Given the description of an element on the screen output the (x, y) to click on. 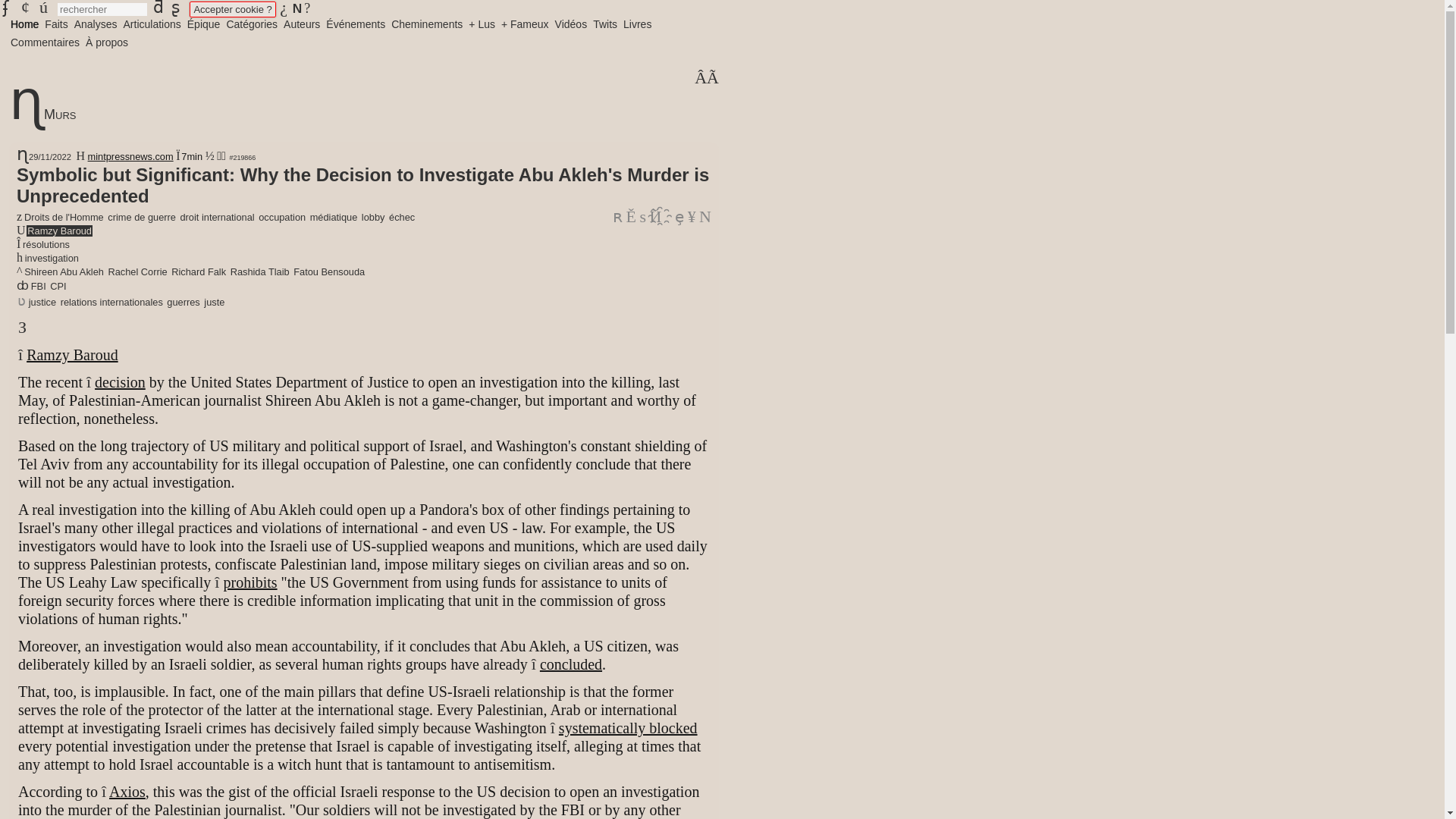
mots connus (655, 217)
Livres (636, 24)
Cheminements (426, 24)
Droits de l'Homme (63, 216)
Faits (55, 24)
219865 (700, 78)
Analyses (95, 24)
ajouter au dock (679, 217)
Murs (25, 114)
Murs (59, 114)
219867 (712, 78)
mintpressnews.com (130, 156)
Murs (21, 155)
Twits (604, 24)
